Given the description of an element on the screen output the (x, y) to click on. 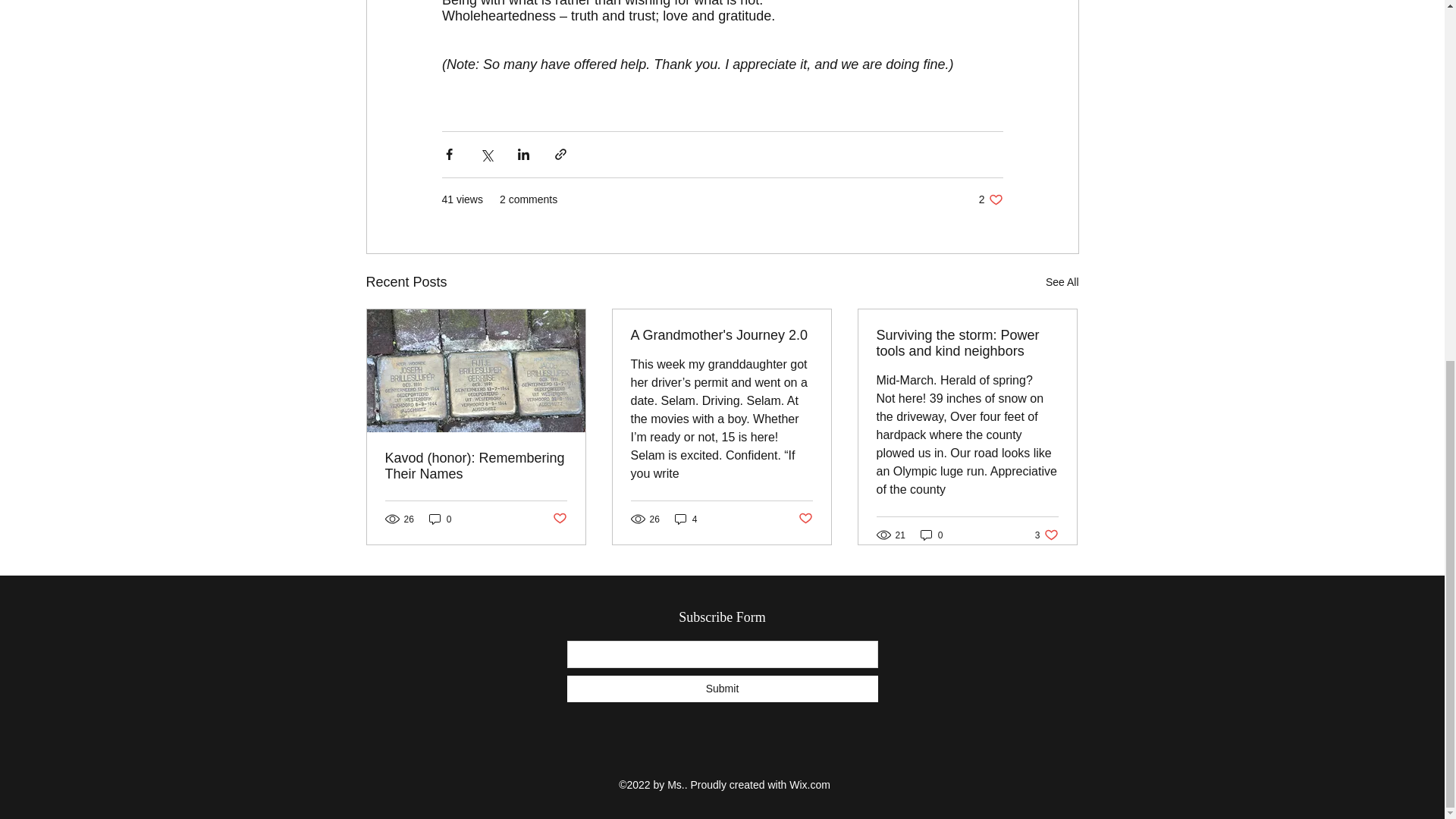
Submit (722, 688)
Post not marked as liked (804, 519)
Post not marked as liked (990, 199)
A Grandmother's Journey 2.0 (558, 519)
4 (1046, 534)
See All (721, 335)
Surviving the storm: Power tools and kind neighbors (685, 518)
0 (1061, 282)
